Given the description of an element on the screen output the (x, y) to click on. 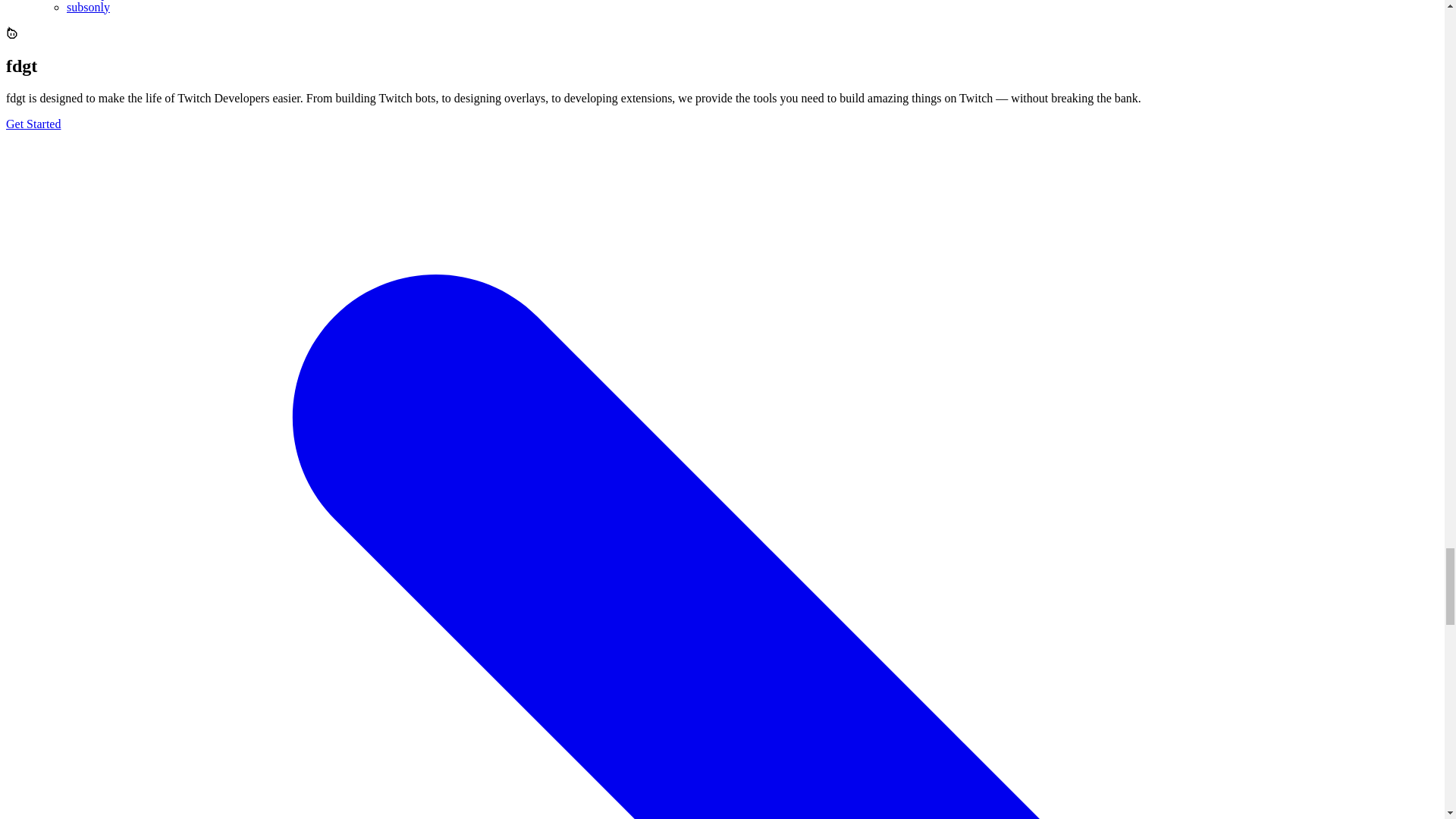
subsonly (88, 6)
